Given the description of an element on the screen output the (x, y) to click on. 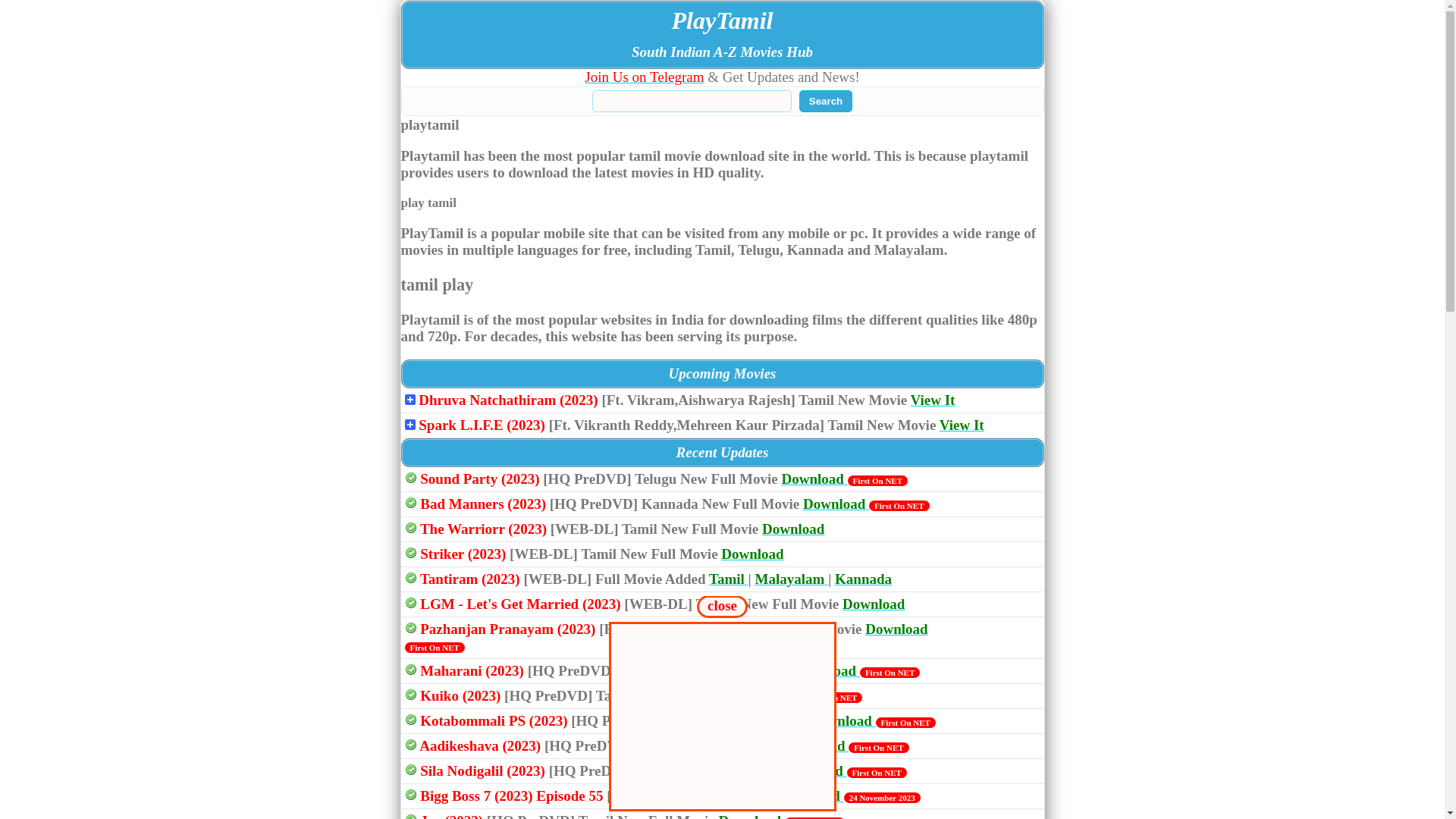
Join Us on Telegram Element type: text (643, 76)
Download Element type: text (752, 553)
Tamil Element type: text (728, 578)
Download Element type: text (873, 603)
Kannada Element type: text (862, 578)
Download Element type: text (811, 795)
Download Element type: text (836, 503)
Download Element type: text (815, 745)
Download Element type: text (814, 478)
Download Element type: text (813, 770)
Download Element type: text (793, 528)
Malayalam Element type: text (791, 578)
close Element type: text (722, 603)
Download Element type: text (842, 720)
Search Element type: text (825, 101)
View It Element type: text (932, 399)
Download Element type: text (896, 629)
Download Element type: text (826, 670)
View It Element type: text (961, 425)
Download Element type: text (769, 695)
